Given the description of an element on the screen output the (x, y) to click on. 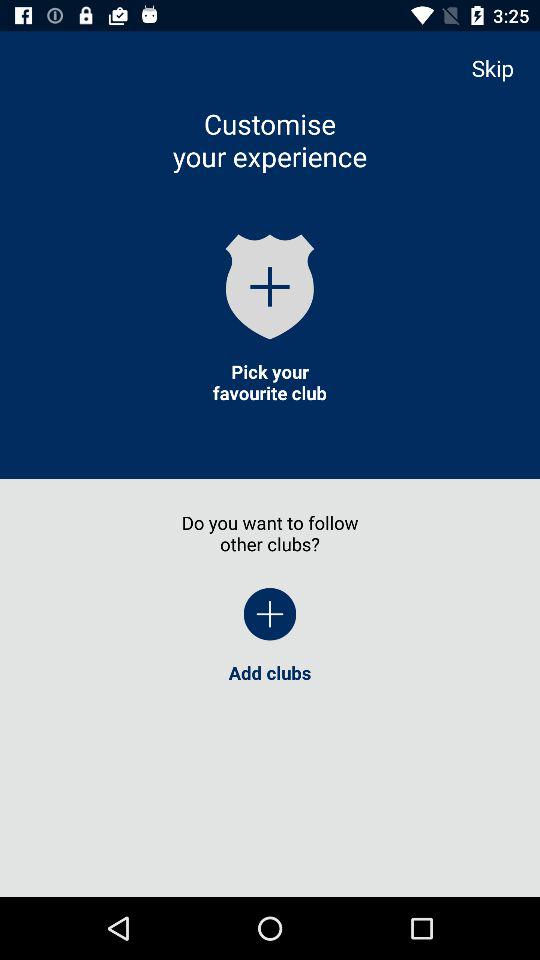
click item at the top right corner (502, 68)
